Given the description of an element on the screen output the (x, y) to click on. 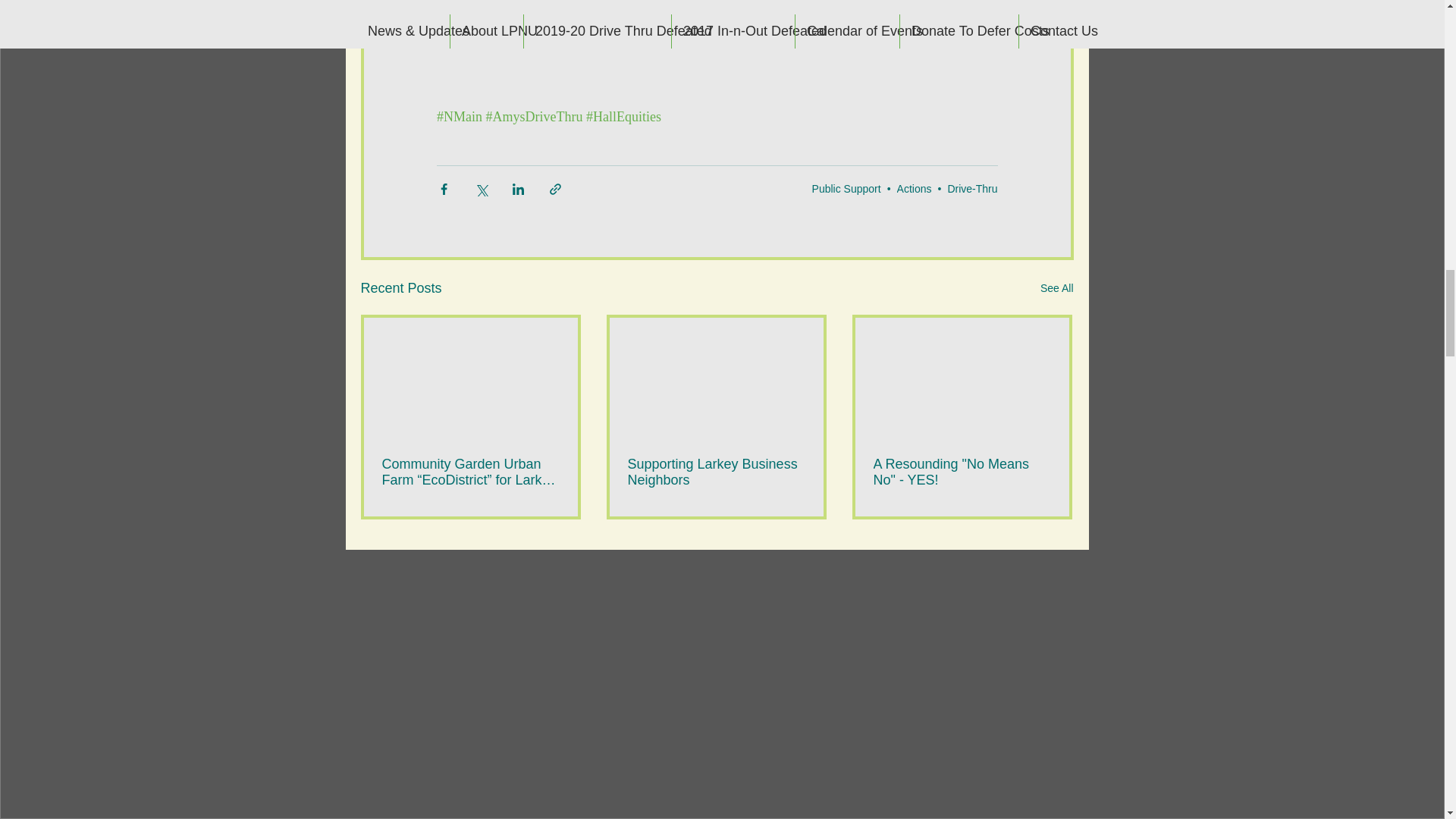
See All (1057, 288)
Actions (913, 188)
Public Support (846, 188)
Drive-Thru (972, 188)
